Given the description of an element on the screen output the (x, y) to click on. 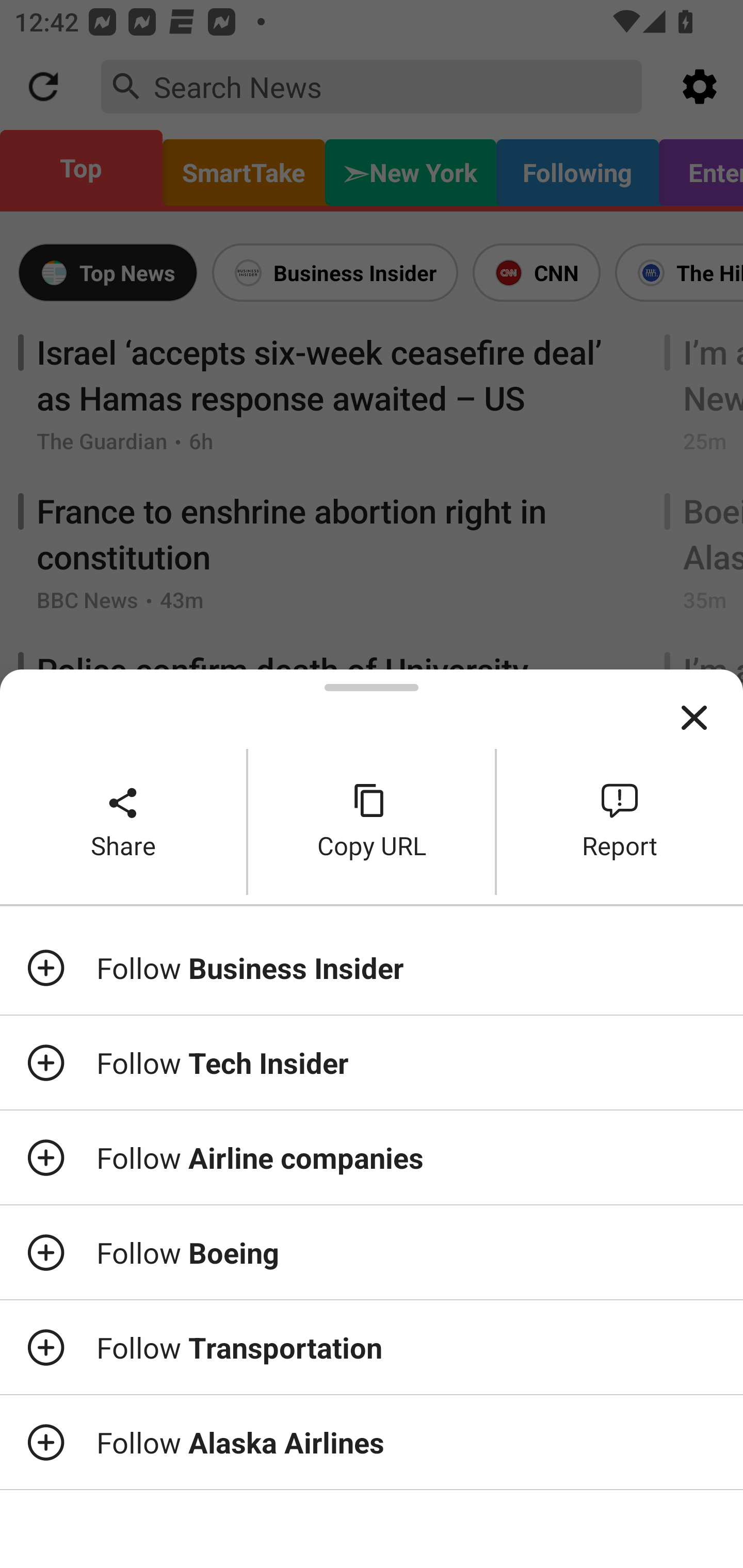
Close (694, 717)
Share (122, 822)
Copy URL (371, 822)
Report (620, 822)
Follow Business Insider (371, 967)
Follow Tech Insider (371, 1063)
Follow Airline companies (371, 1157)
Follow Boeing (371, 1252)
Follow Transportation (371, 1346)
Follow Alaska Airlines (371, 1442)
